Given the description of an element on the screen output the (x, y) to click on. 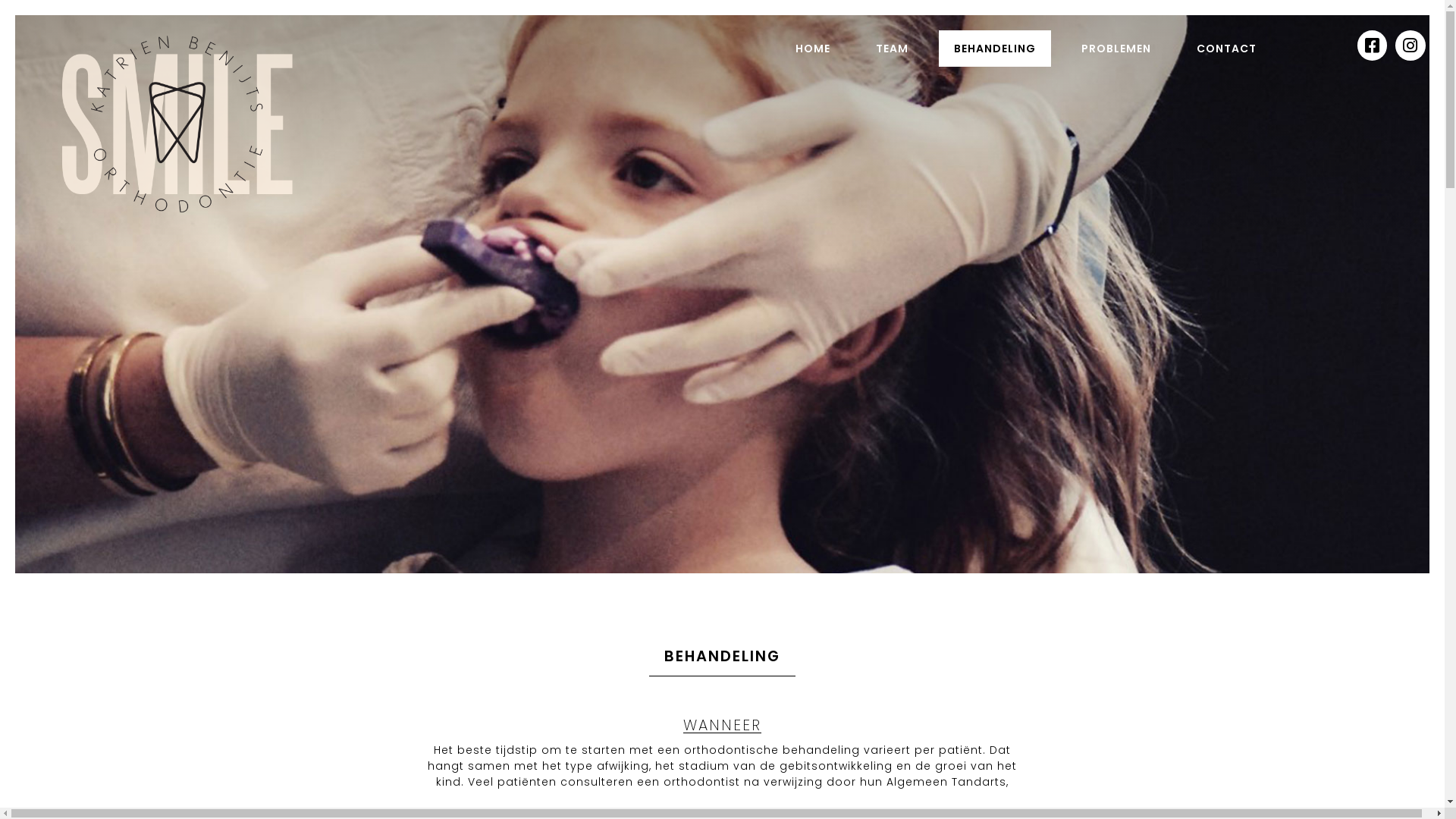
BEHANDELING Element type: text (994, 48)
CONTACT Element type: text (1226, 48)
TEAM Element type: text (891, 48)
PROBLEMEN Element type: text (1116, 48)
HOME Element type: text (812, 48)
